Given the description of an element on the screen output the (x, y) to click on. 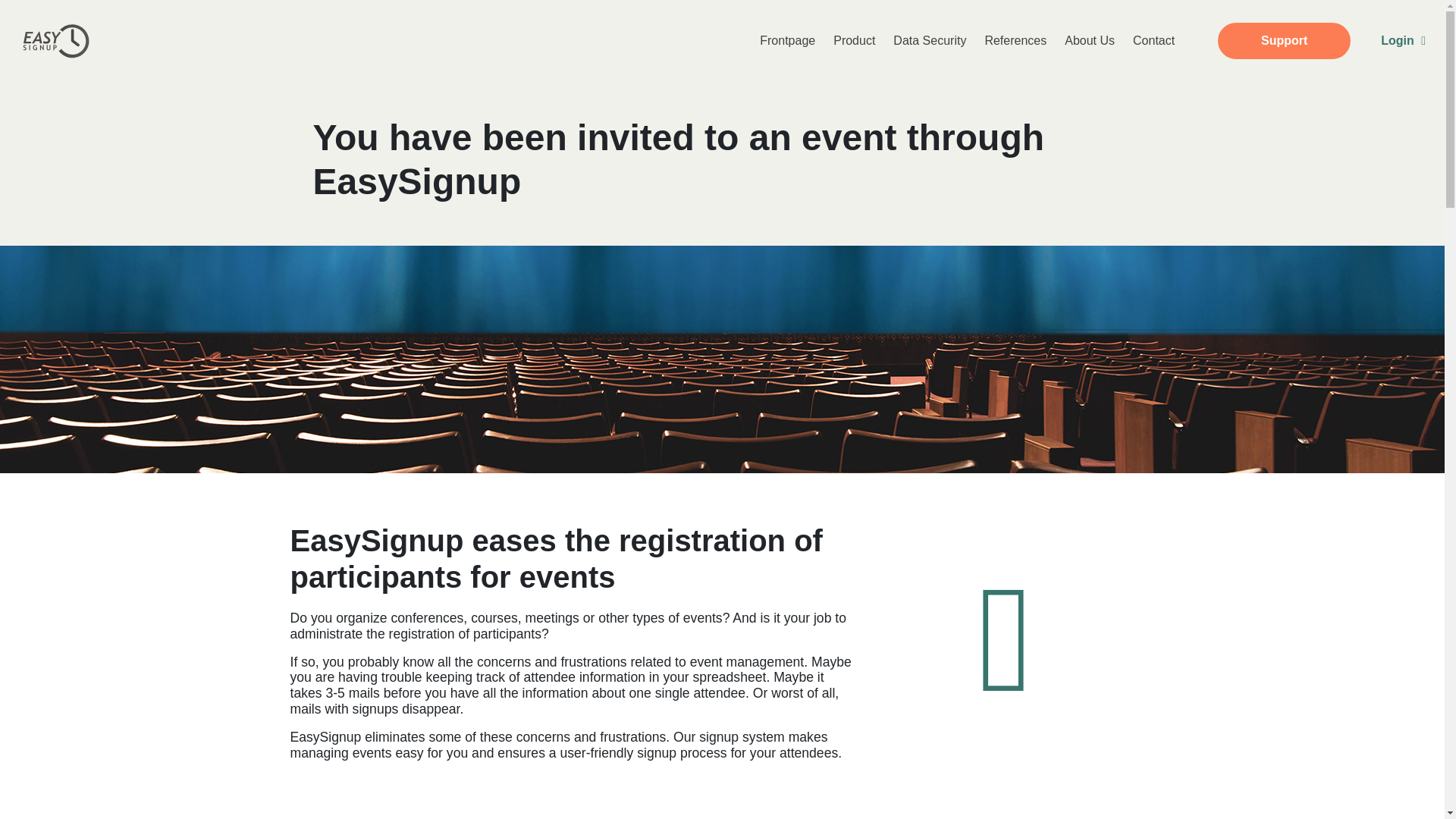
Frontpage (787, 40)
Contact (1153, 40)
About Us (1089, 40)
Product (853, 40)
Login (1402, 40)
References (1015, 40)
Data Security (929, 40)
Support (1284, 40)
